Given the description of an element on the screen output the (x, y) to click on. 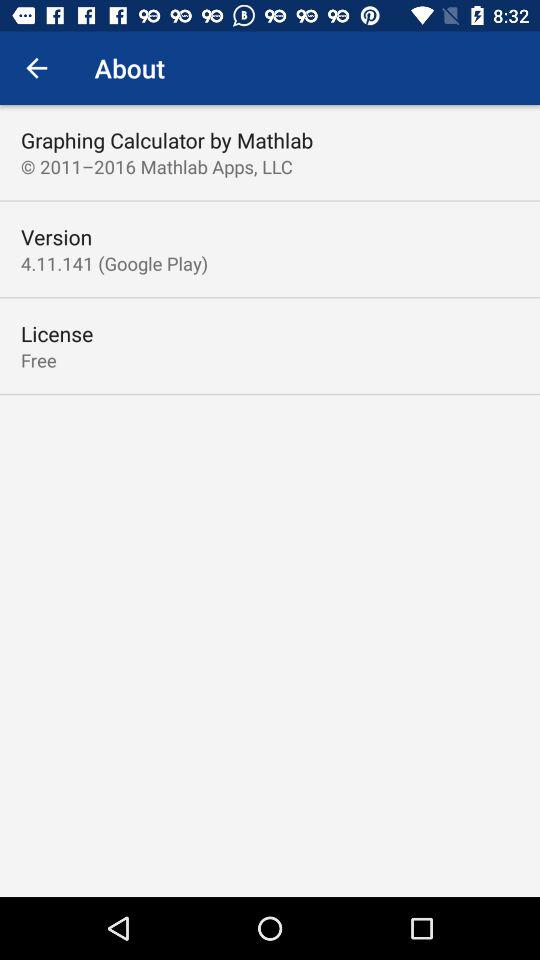
turn on the item above version icon (156, 166)
